Given the description of an element on the screen output the (x, y) to click on. 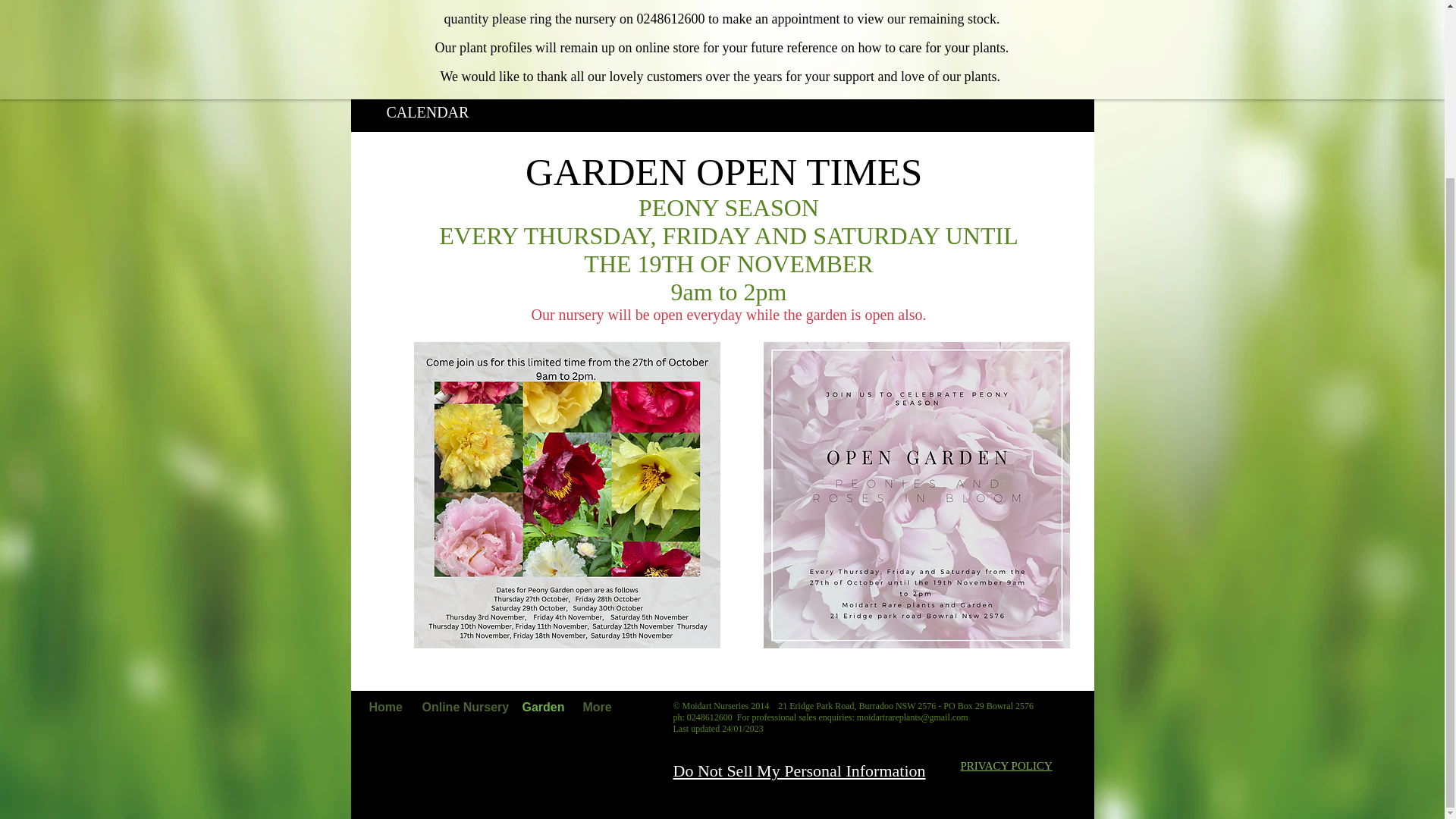
0588DE29-E6D1-41A8-9497-0C995744E95D.PNG (915, 495)
